Given the description of an element on the screen output the (x, y) to click on. 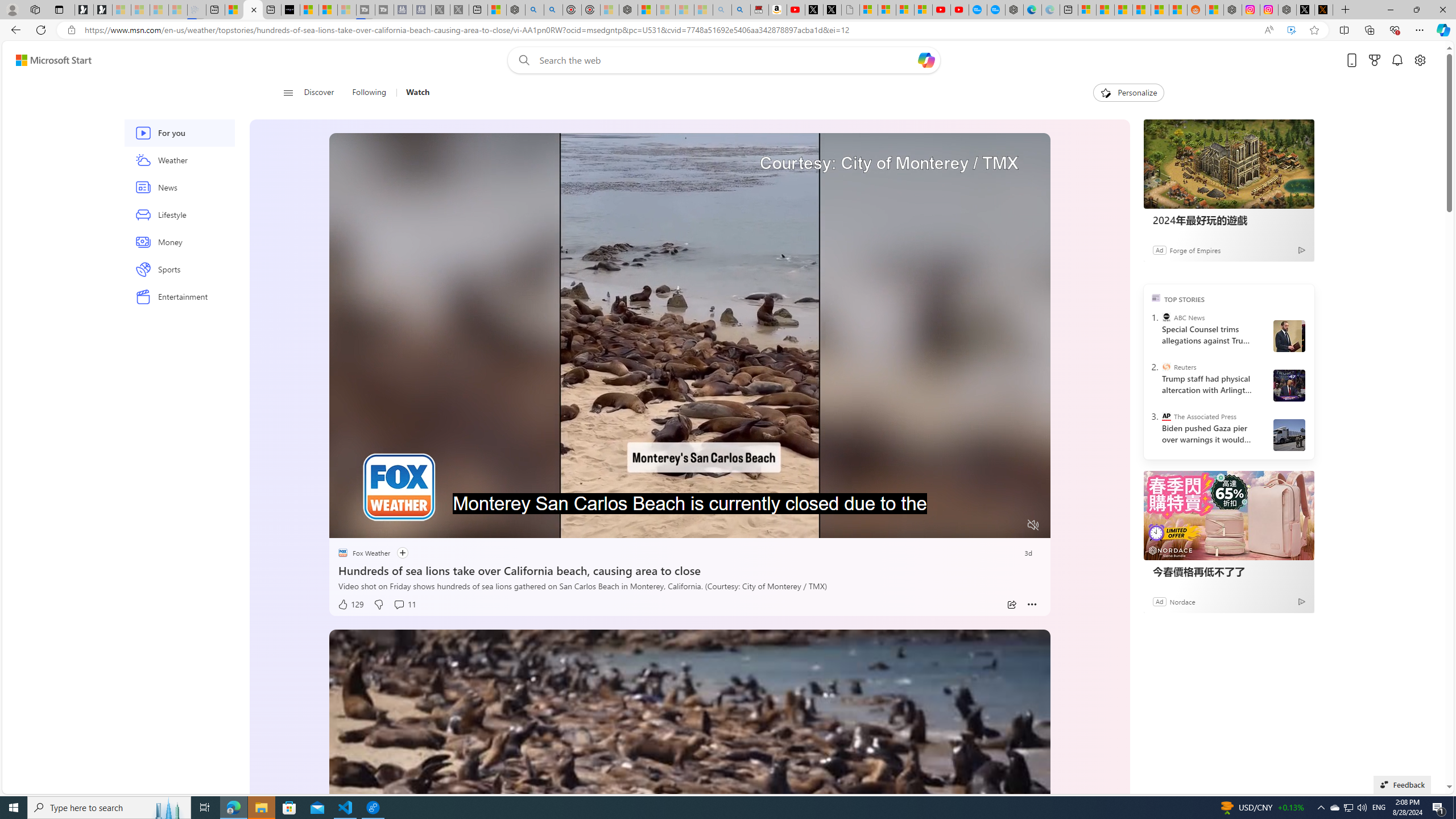
Captions (988, 525)
Progress Bar (689, 510)
The Associated Press (1165, 415)
Gloom - YouTube (941, 9)
Follow (396, 553)
More (1031, 604)
